Given the description of an element on the screen output the (x, y) to click on. 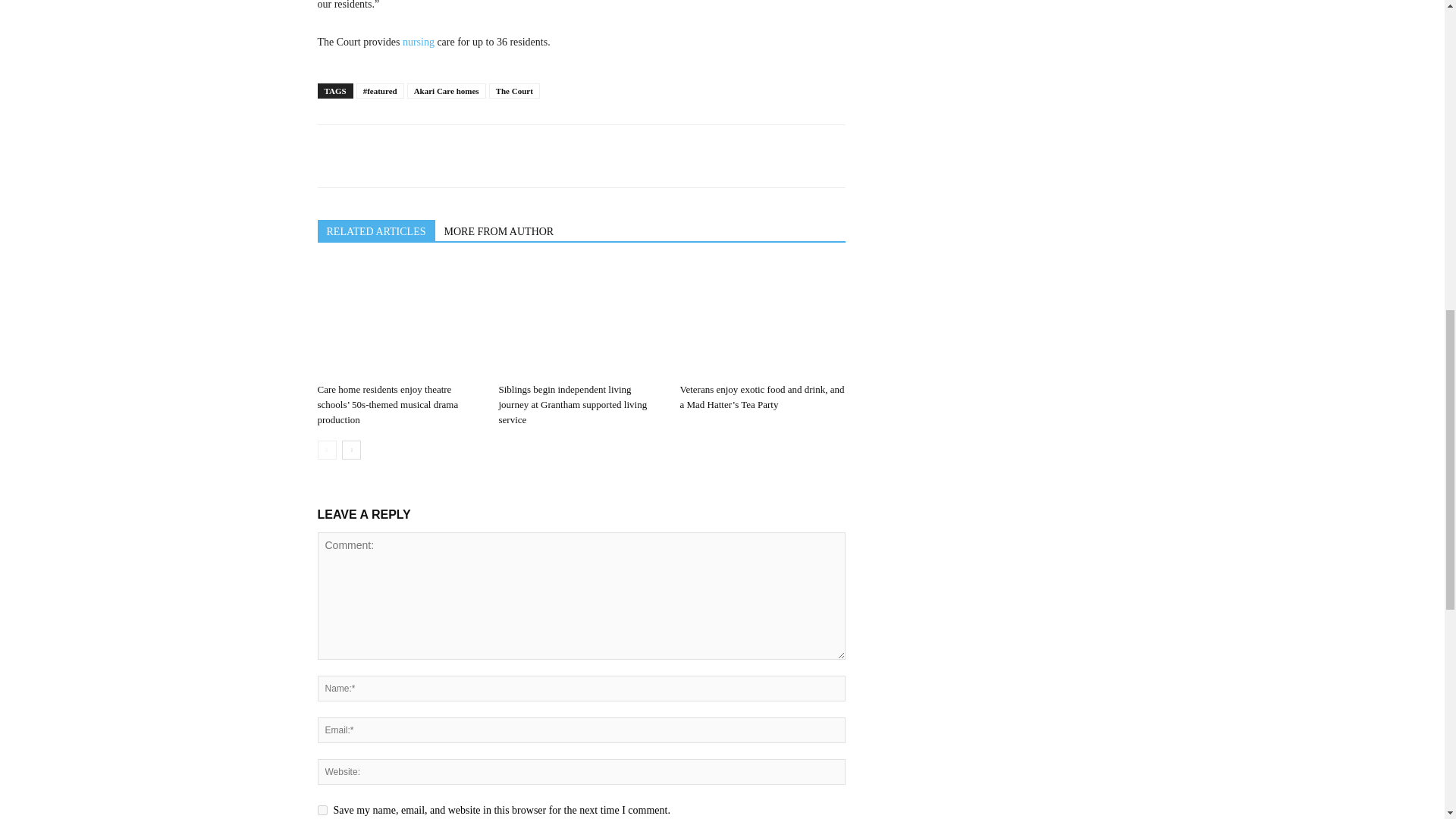
yes (321, 809)
The Court (514, 90)
RELATED ARTICLES (375, 230)
nursing (418, 41)
Akari Care homes (446, 90)
